Given the description of an element on the screen output the (x, y) to click on. 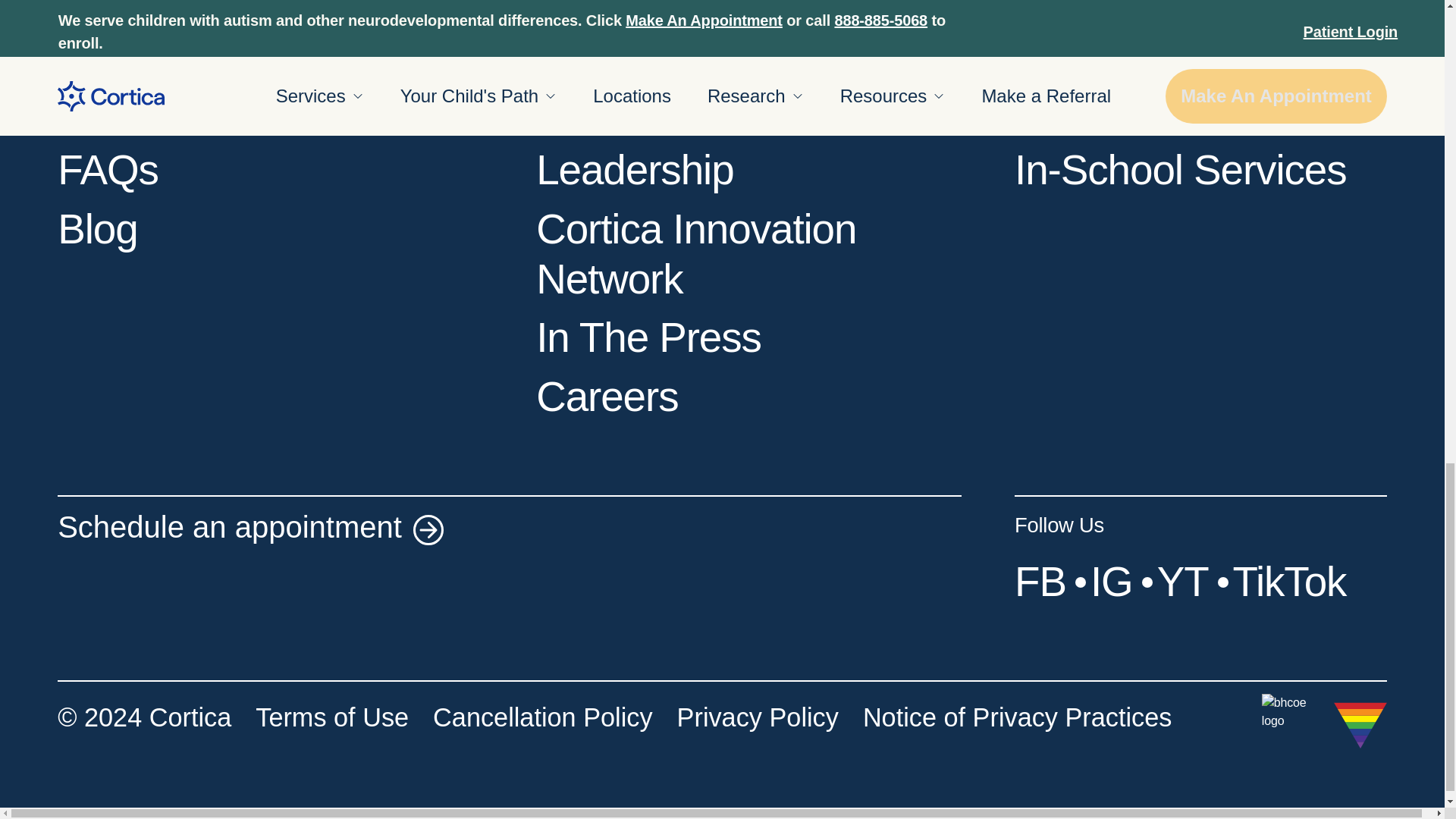
TikTok (1289, 581)
Cortica Innovation Network (695, 253)
In The Press (648, 337)
Leadership (634, 169)
Schedule an appointment (245, 532)
Cortica Physicians (699, 110)
FAQs (108, 169)
Notice of Privacy Practices (1017, 729)
FB (1039, 581)
YT (1182, 581)
